Given the description of an element on the screen output the (x, y) to click on. 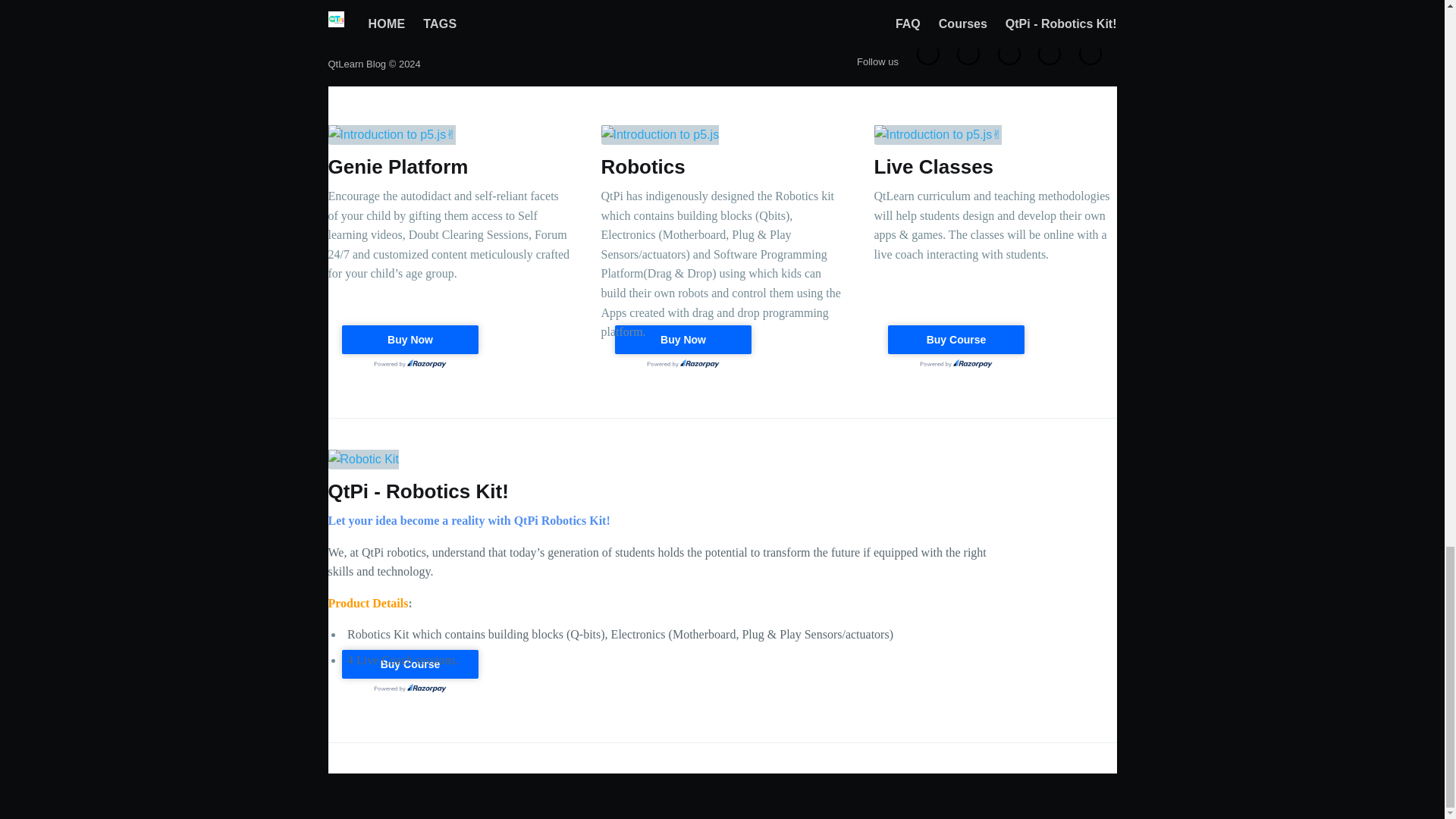
QtLearn Blog (356, 63)
